Given the description of an element on the screen output the (x, y) to click on. 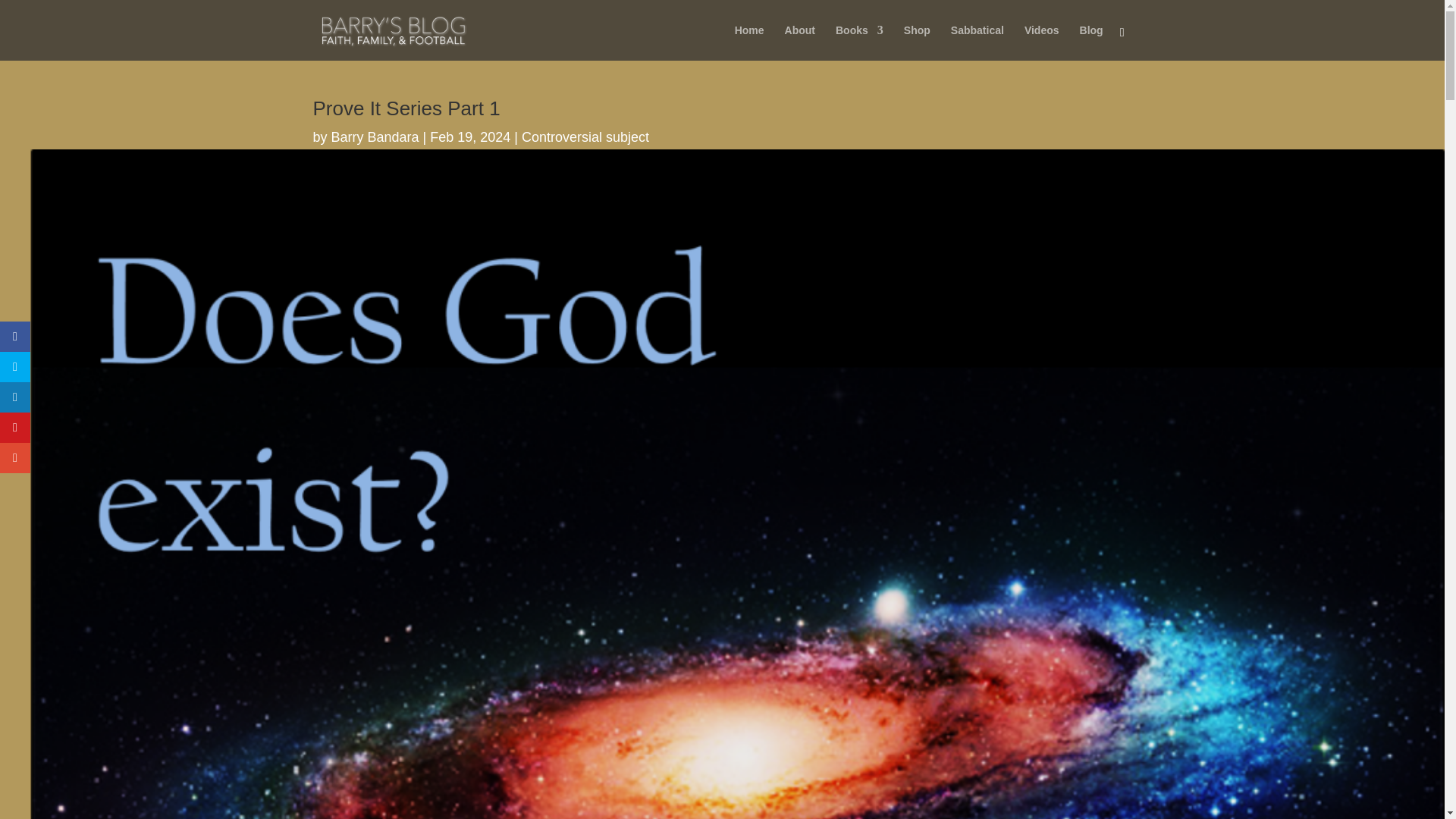
Videos (1042, 42)
Sabbatical (977, 42)
Controversial subject (585, 136)
Posts by Barry Bandara (375, 136)
Books (859, 42)
Barry Bandara (375, 136)
